Given the description of an element on the screen output the (x, y) to click on. 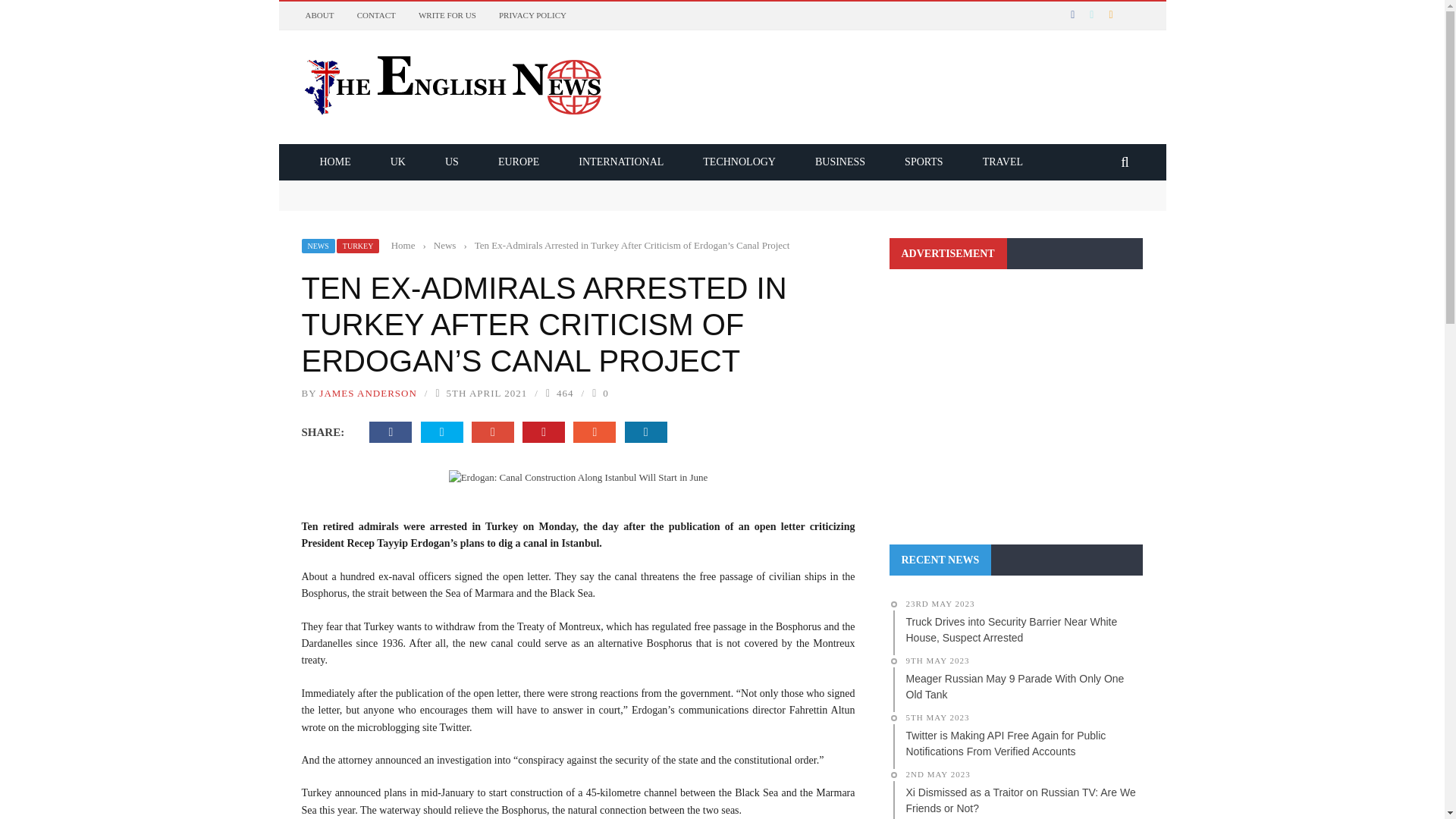
HOME (335, 161)
WRITE FOR US (447, 14)
ABOUT (318, 14)
PRIVACY POLICY (532, 14)
CONTACT (376, 14)
UK (397, 161)
